Given the description of an element on the screen output the (x, y) to click on. 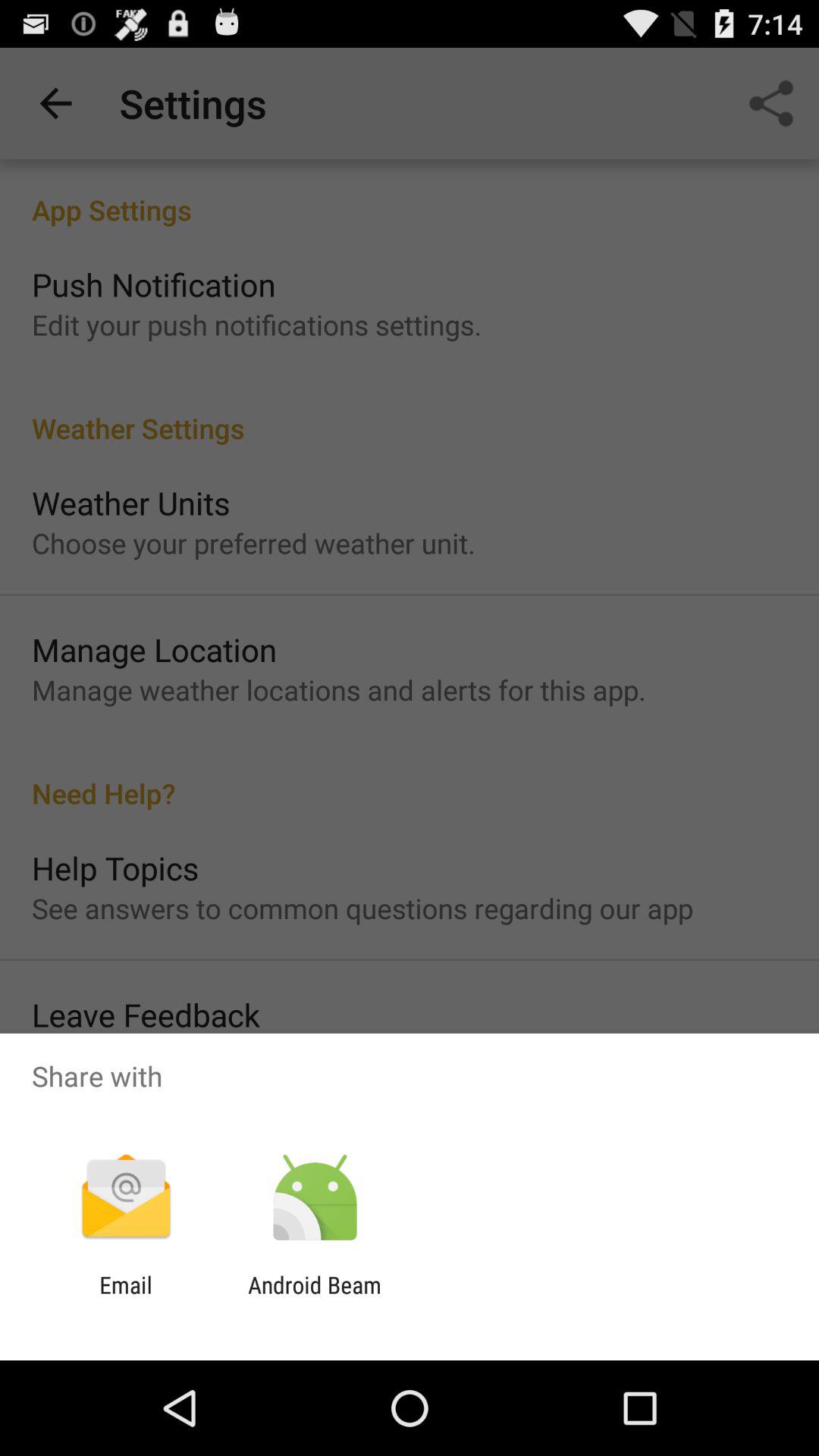
flip until the android beam (314, 1298)
